Given the description of an element on the screen output the (x, y) to click on. 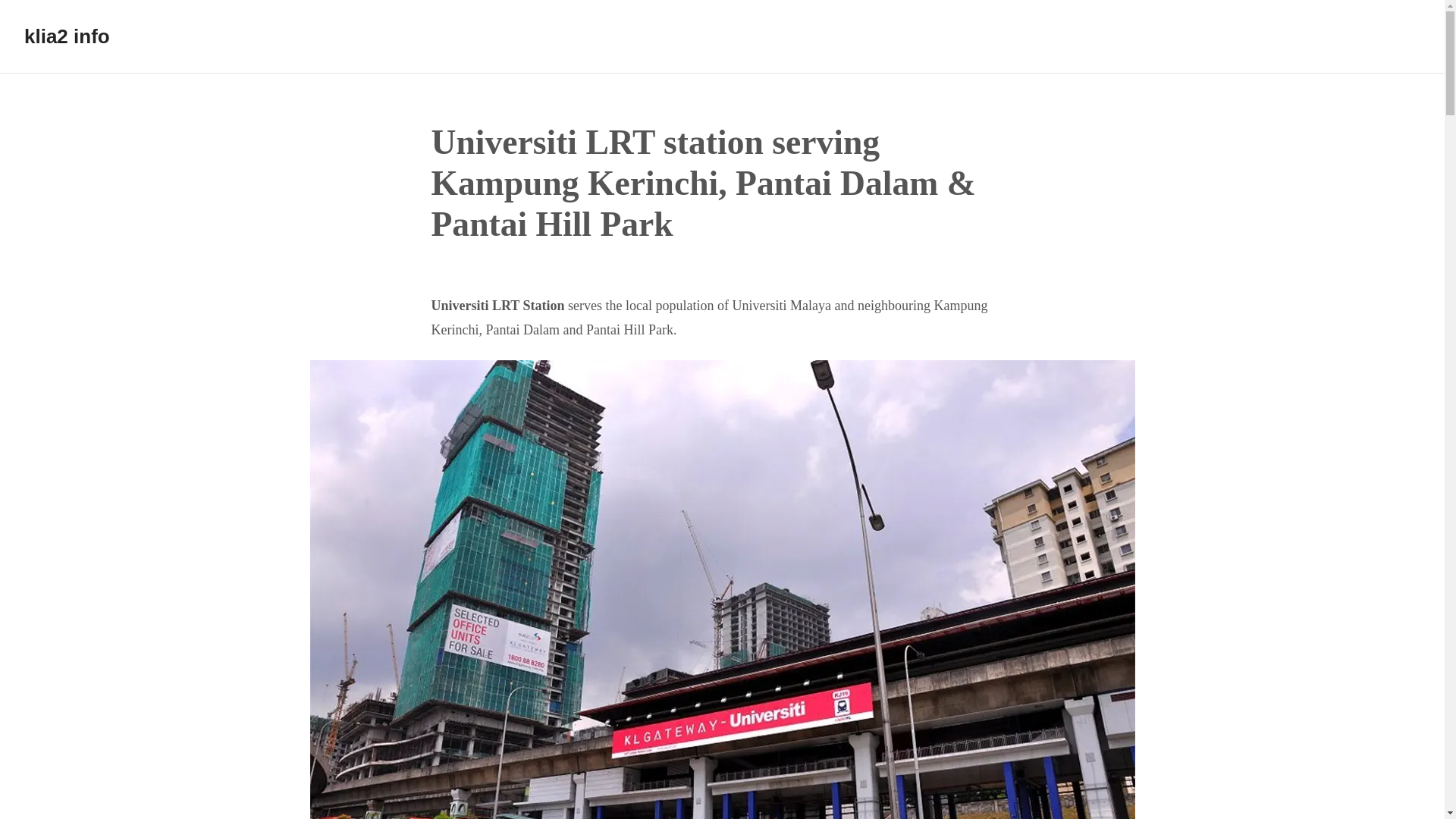
klia2 info (67, 36)
